Given the description of an element on the screen output the (x, y) to click on. 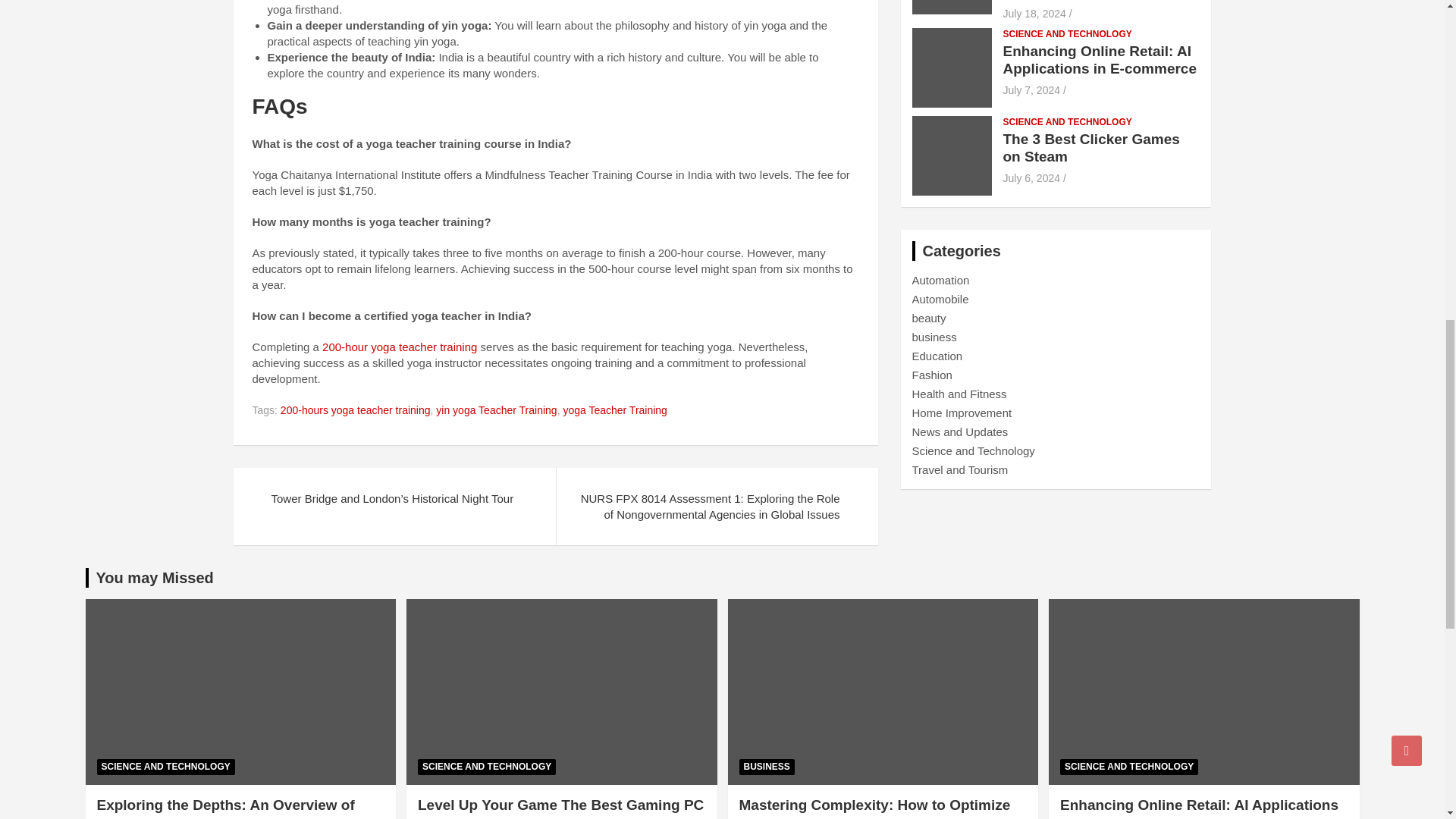
Enhancing Online Retail: AI Applications in E-commerce (1031, 90)
The 3 Best Clicker Games on Steam (1031, 177)
200-hour yoga teacher training (399, 346)
yin yoga Teacher Training (495, 410)
yoga Teacher Training (614, 410)
200-hours yoga teacher training (355, 410)
